Given the description of an element on the screen output the (x, y) to click on. 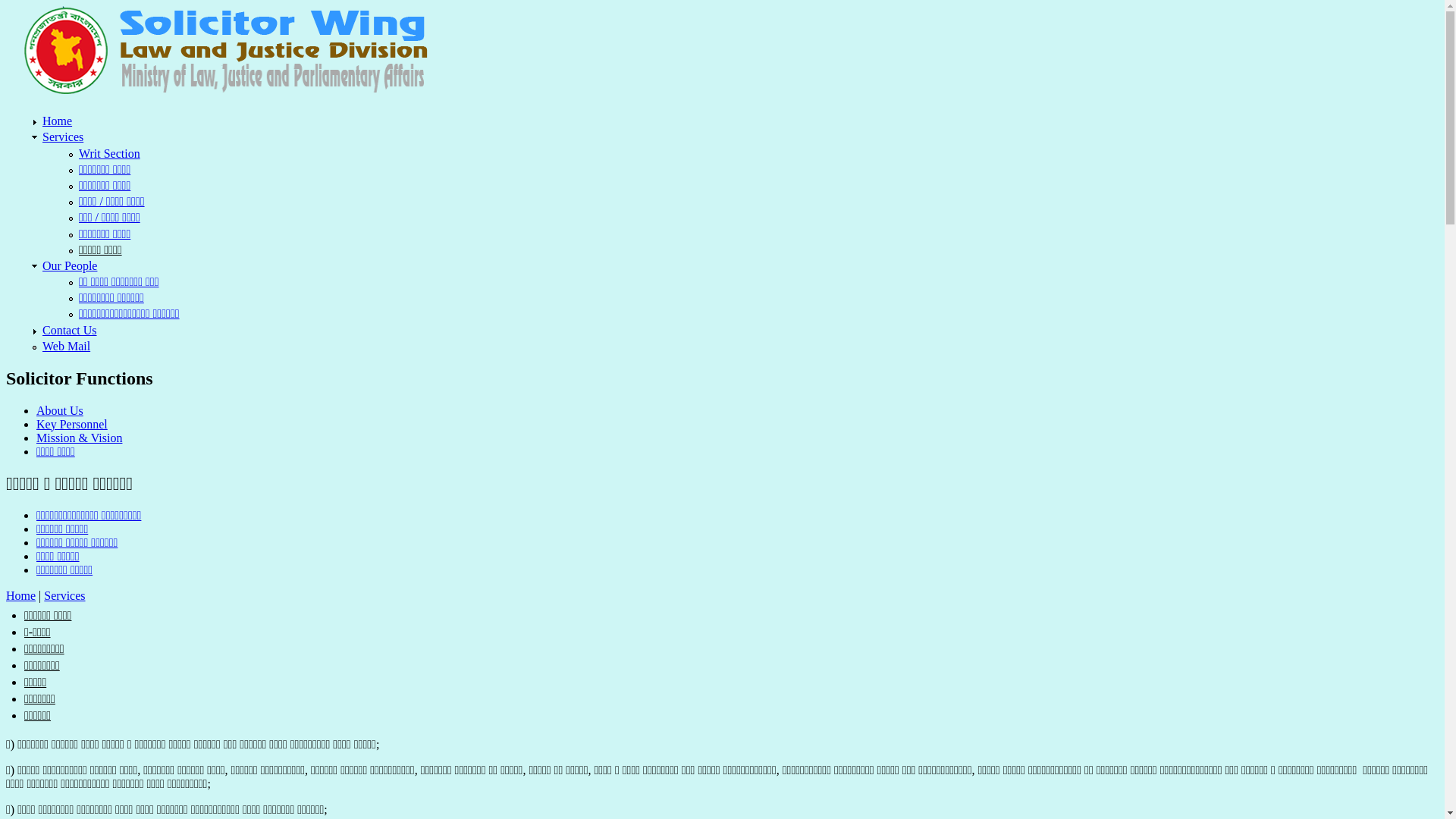
Services Element type: text (63, 595)
Contact Us Element type: text (69, 329)
Key Personnel Element type: text (71, 423)
About Us Element type: text (59, 410)
Home Element type: text (20, 595)
Our People Element type: text (69, 265)
Home Element type: hover (224, 92)
Mission & Vision Element type: text (79, 437)
Writ Section Element type: text (109, 153)
Skip to main content Element type: text (56, 6)
Home Element type: text (57, 120)
Services Element type: text (62, 136)
Web Mail Element type: text (66, 345)
